Given the description of an element on the screen output the (x, y) to click on. 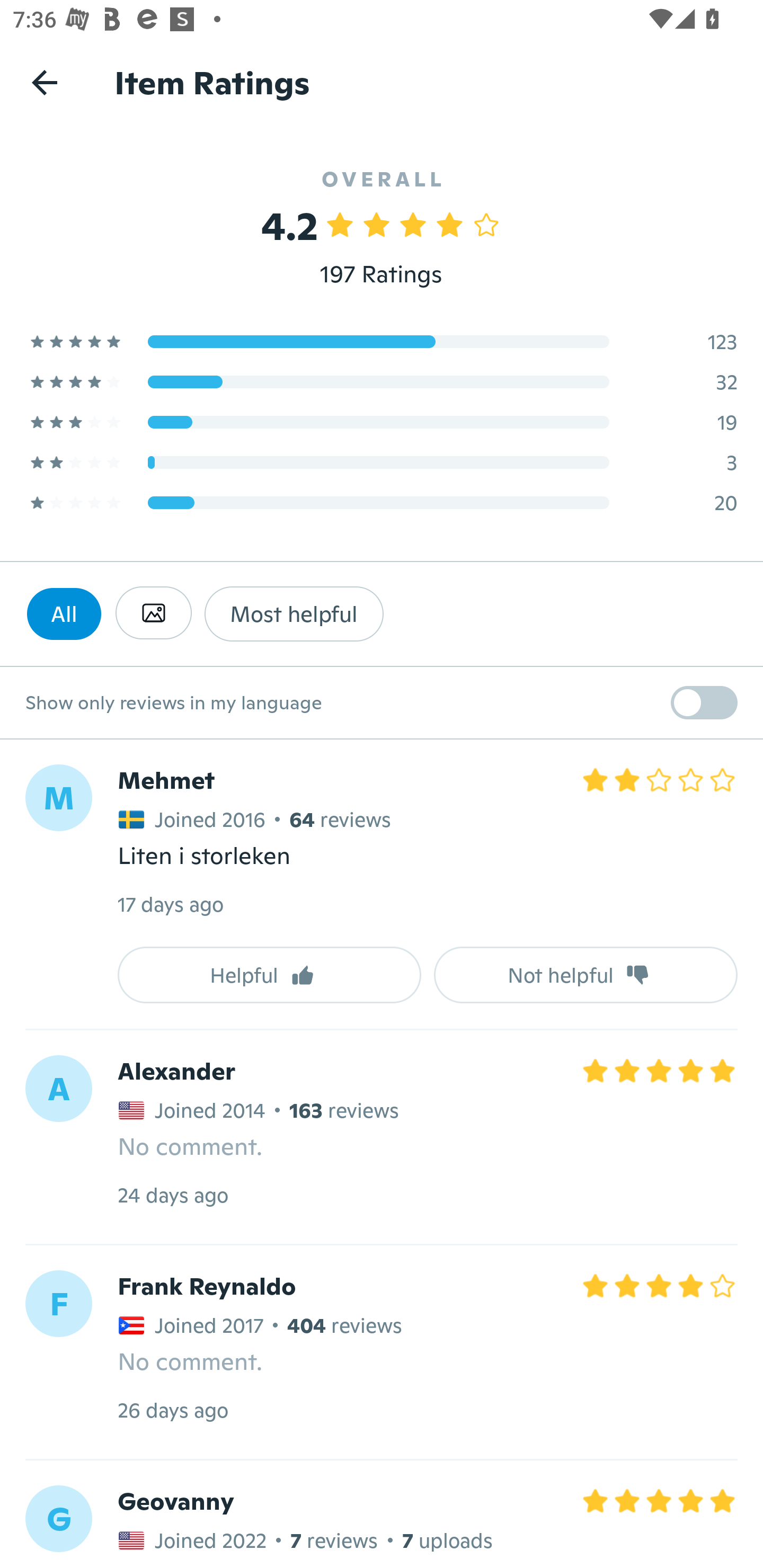
Navigate up (44, 82)
5 Star Rating 123 (381, 341)
4 Star Rating 32 (381, 381)
3 Star Rating 19 (381, 421)
2 Star Rating 3 (381, 462)
1 Star Rating 20 (381, 502)
All (64, 613)
Has photo (153, 612)
Most helpful (293, 613)
Show only reviews in my language (381, 702)
M (58, 798)
Mehmet (166, 780)
17 days ago (170, 903)
Helpful (269, 975)
Not helpful (585, 975)
A (58, 1088)
Alexander (176, 1070)
24 days ago (172, 1194)
F (58, 1303)
Frank Reynaldo (206, 1285)
26 days ago (172, 1410)
G (58, 1518)
Geovanny (175, 1500)
